Given the description of an element on the screen output the (x, y) to click on. 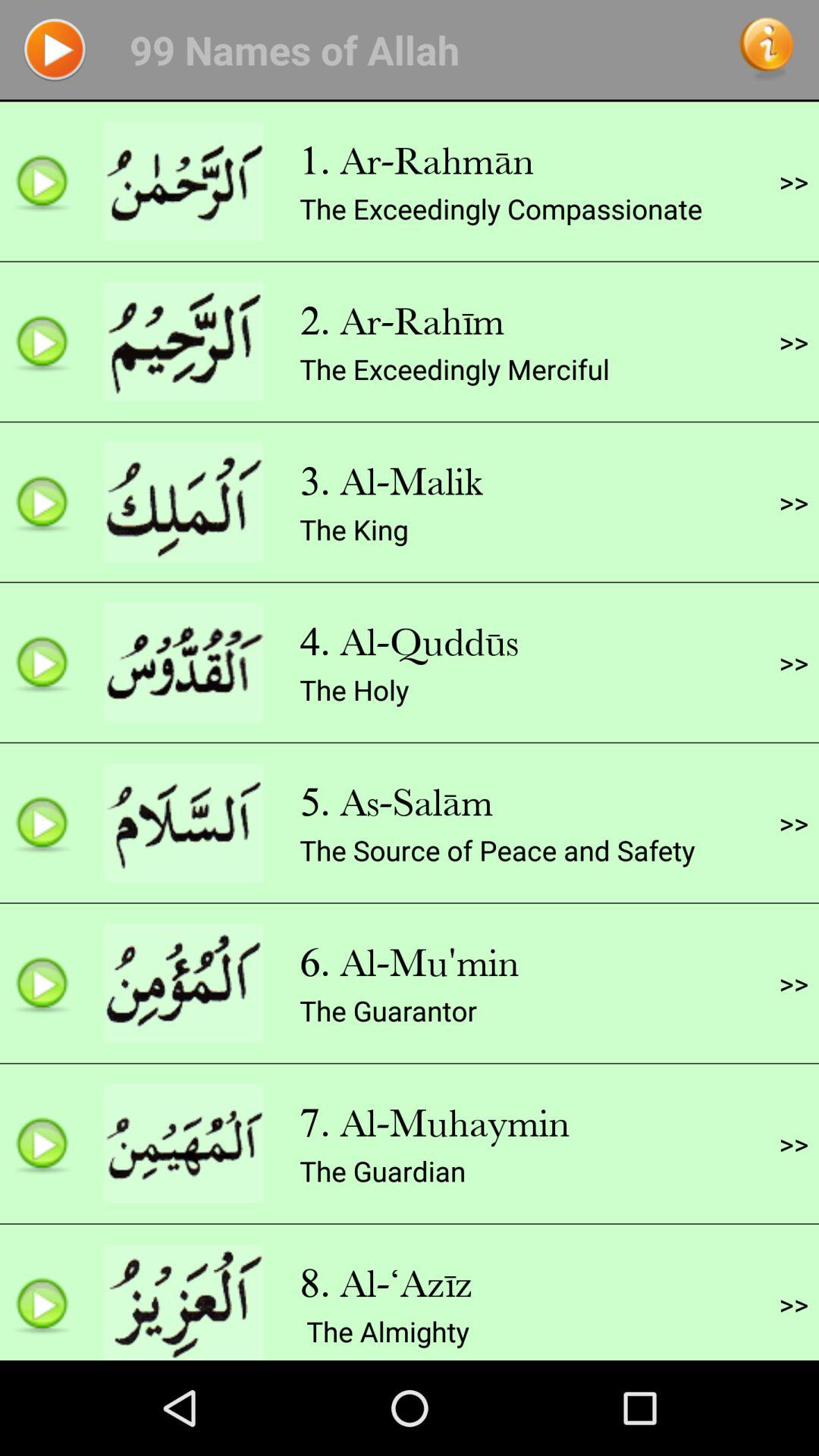
press icon above >> item (793, 181)
